Given the description of an element on the screen output the (x, y) to click on. 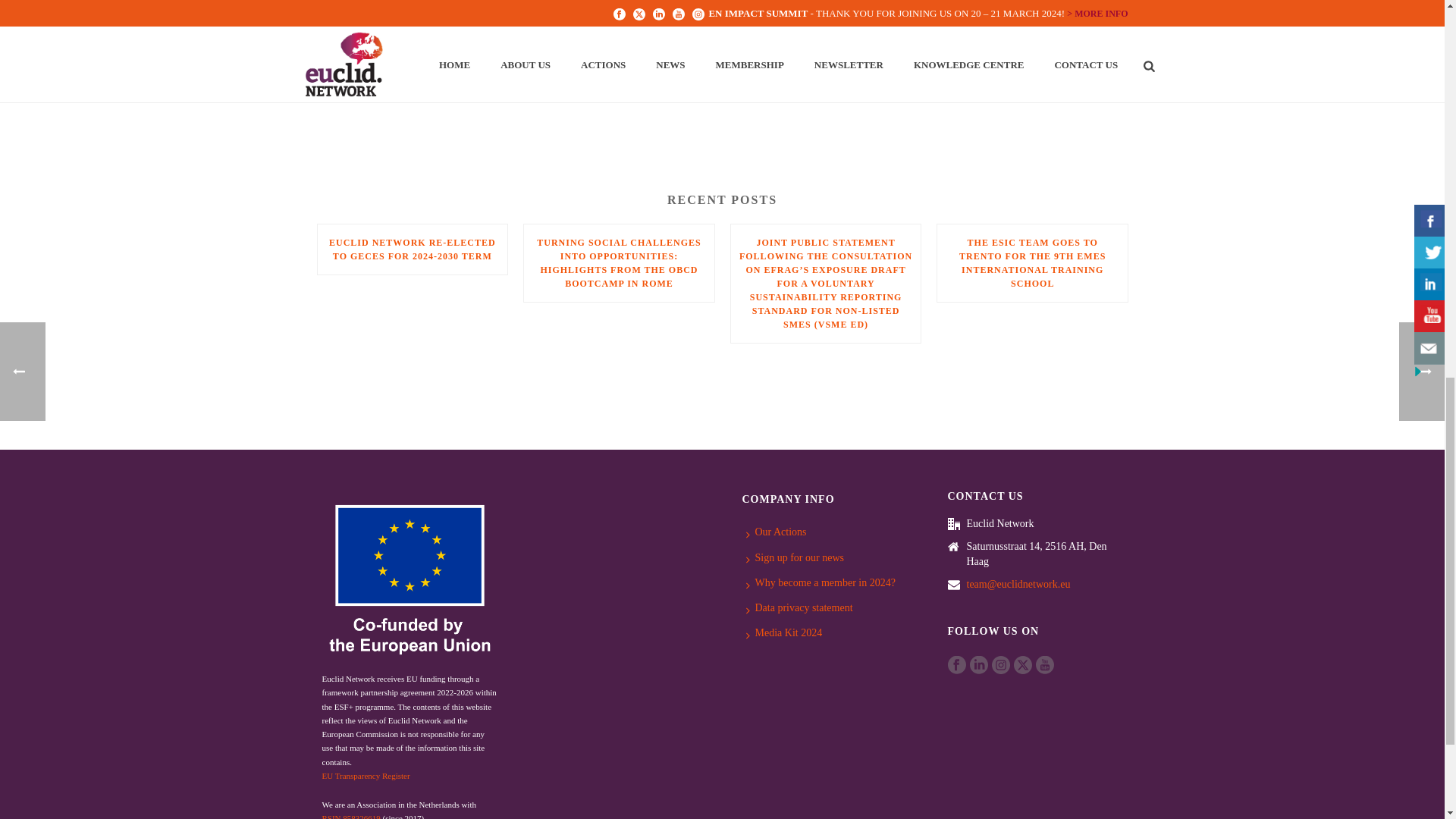
Follow Us on twitter (1021, 665)
Follow Us on linkedin (978, 665)
Follow Us on instagram (1000, 665)
Follow Us on facebook (956, 665)
Download (345, 23)
Follow Us on youtube (1044, 665)
